Given the description of an element on the screen output the (x, y) to click on. 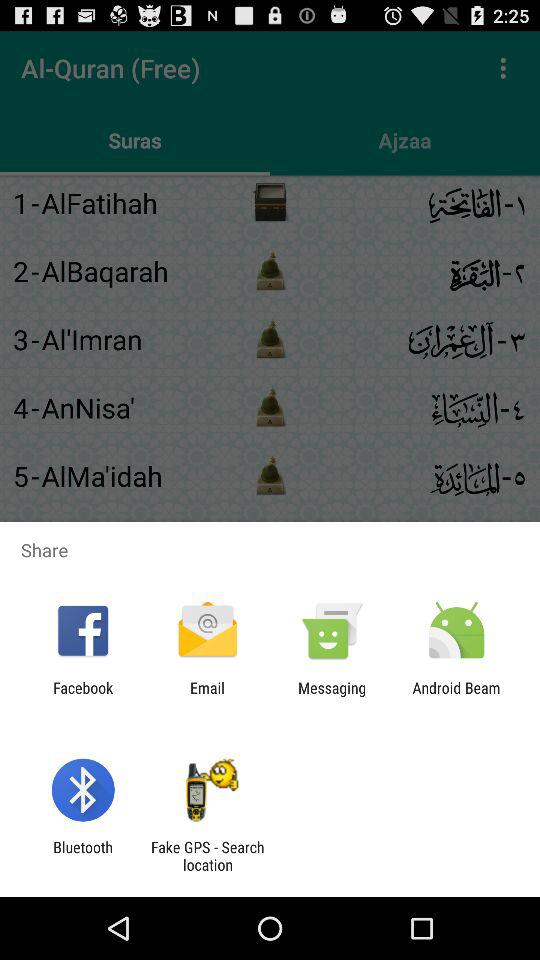
scroll until the android beam app (456, 696)
